Given the description of an element on the screen output the (x, y) to click on. 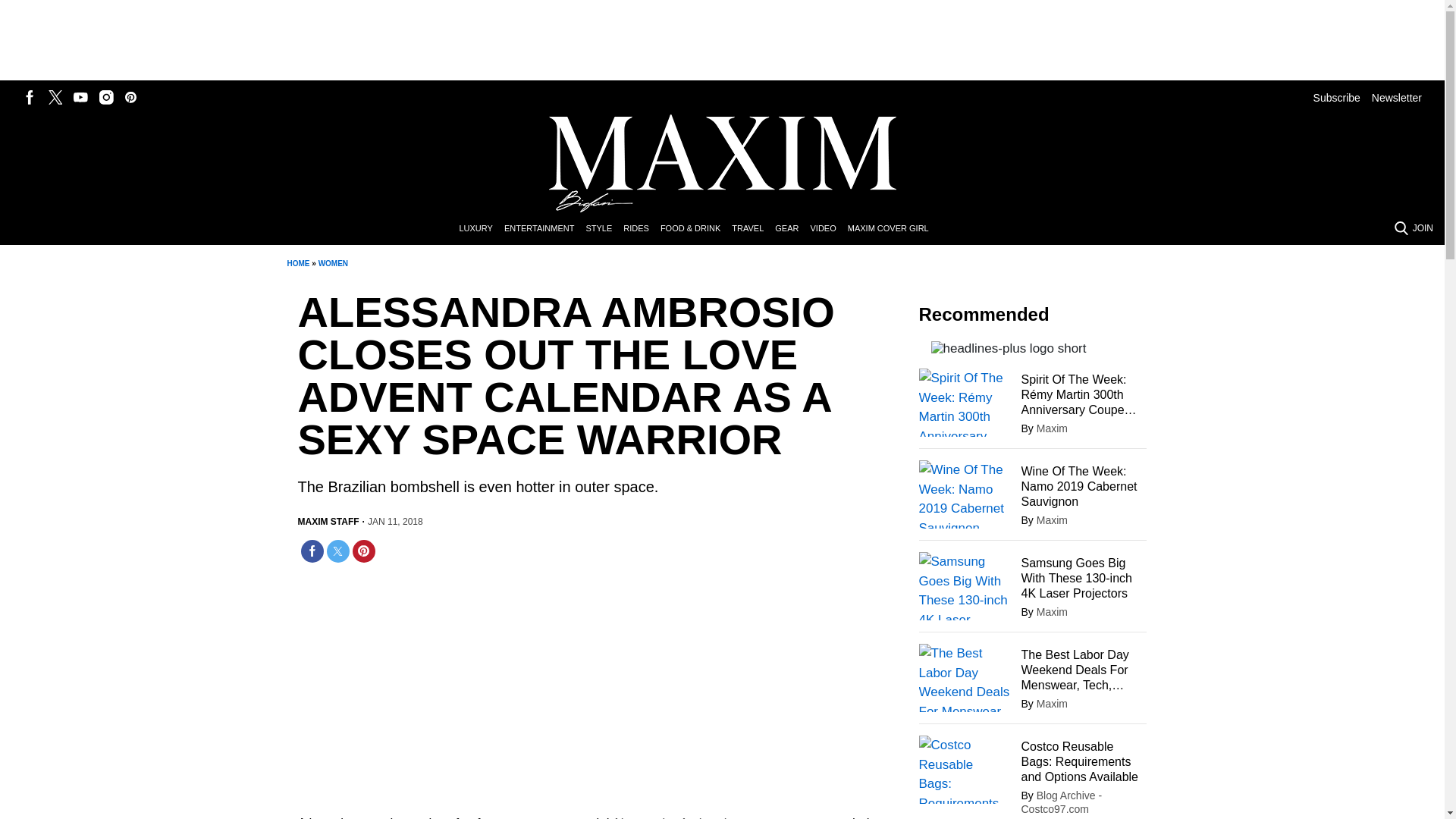
Follow us on Twitter (55, 97)
RIDES (642, 228)
Follow us on Facebook (30, 97)
Follow us on Youtube (80, 97)
JOIN (1422, 228)
ENTERTAINMENT (544, 228)
MAXIM STAFF (327, 521)
TRAVEL (753, 228)
Newsletter (1396, 97)
GEAR (791, 228)
